Given the description of an element on the screen output the (x, y) to click on. 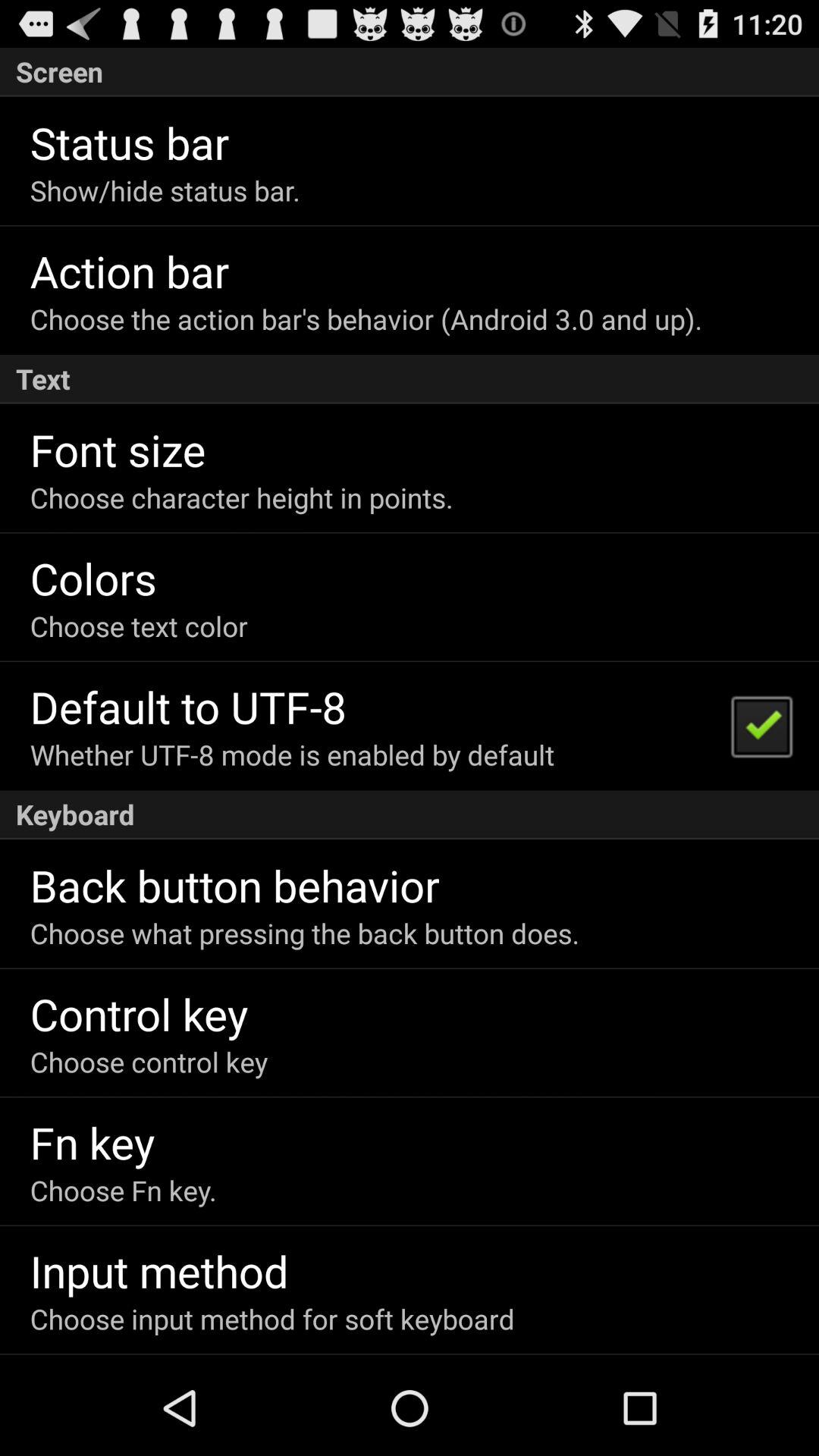
open the icon below the back button behavior icon (304, 933)
